Given the description of an element on the screen output the (x, y) to click on. 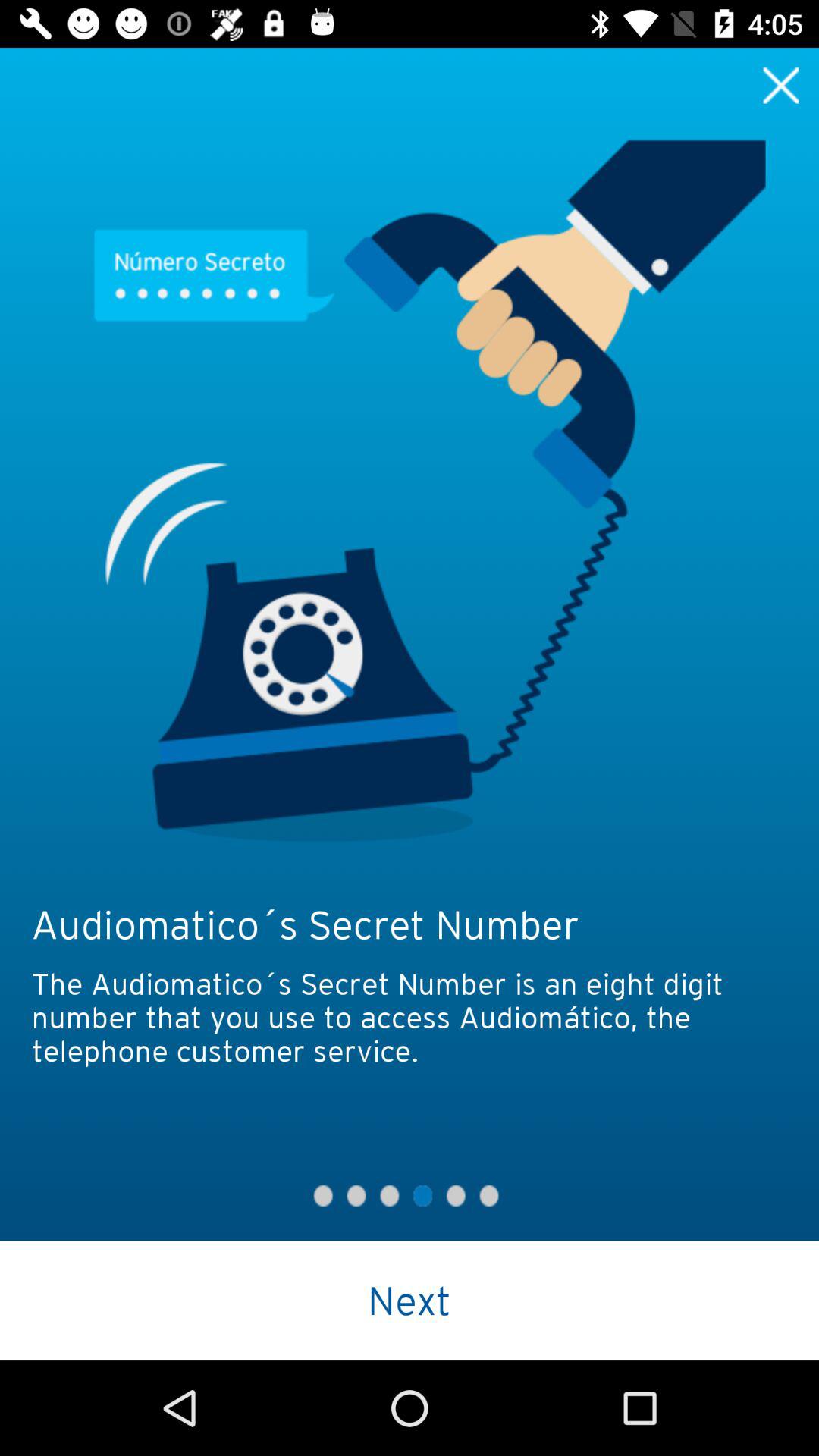
close instructions (781, 85)
